Given the description of an element on the screen output the (x, y) to click on. 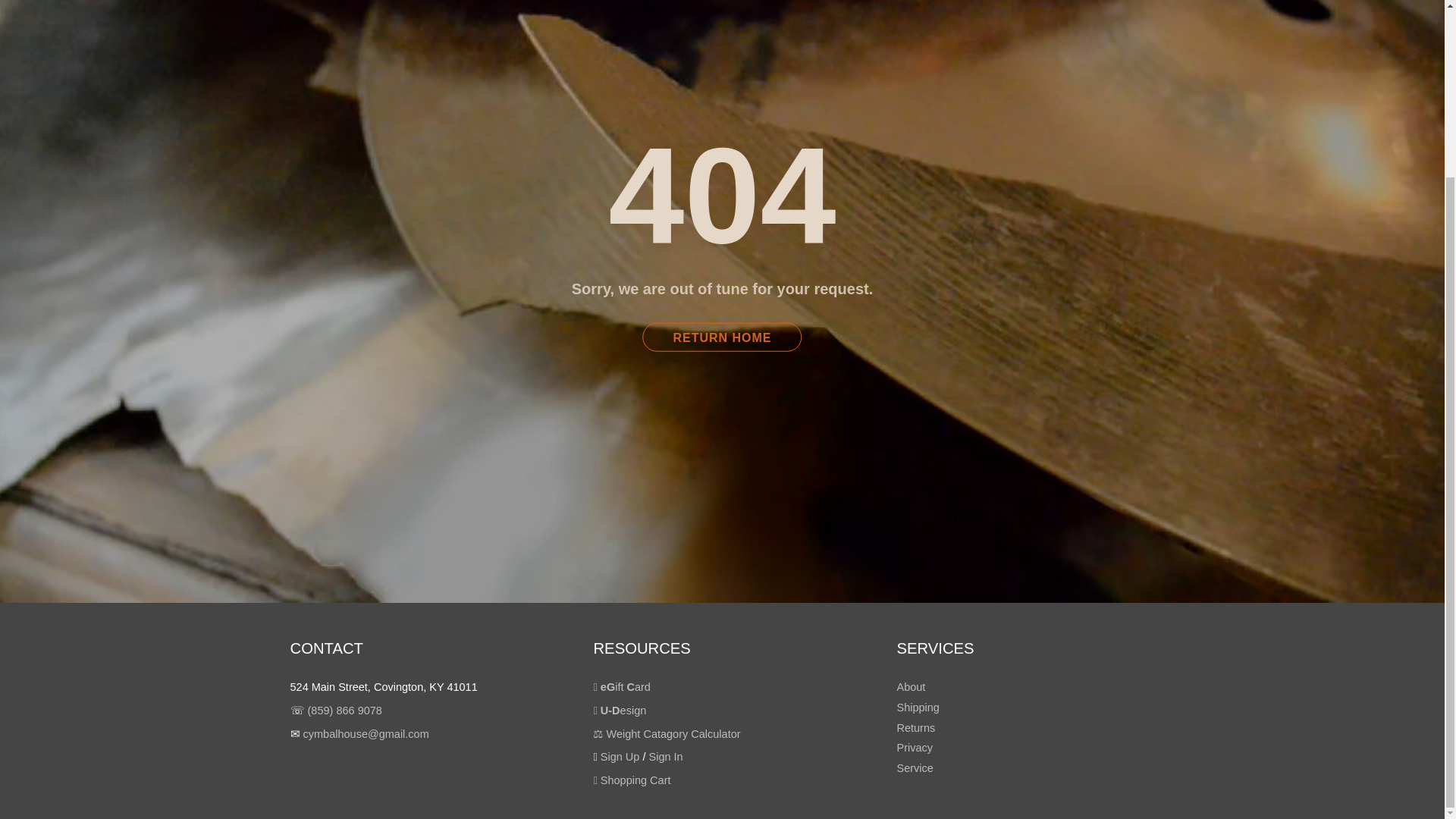
Sign In (665, 756)
Shopping Cart (630, 779)
tel:8598669078 (344, 710)
Cymbal House eGift Card (620, 686)
Sign Up (619, 756)
Cymbal Weight Category Calculator (665, 734)
U-Design (619, 710)
